Given the description of an element on the screen output the (x, y) to click on. 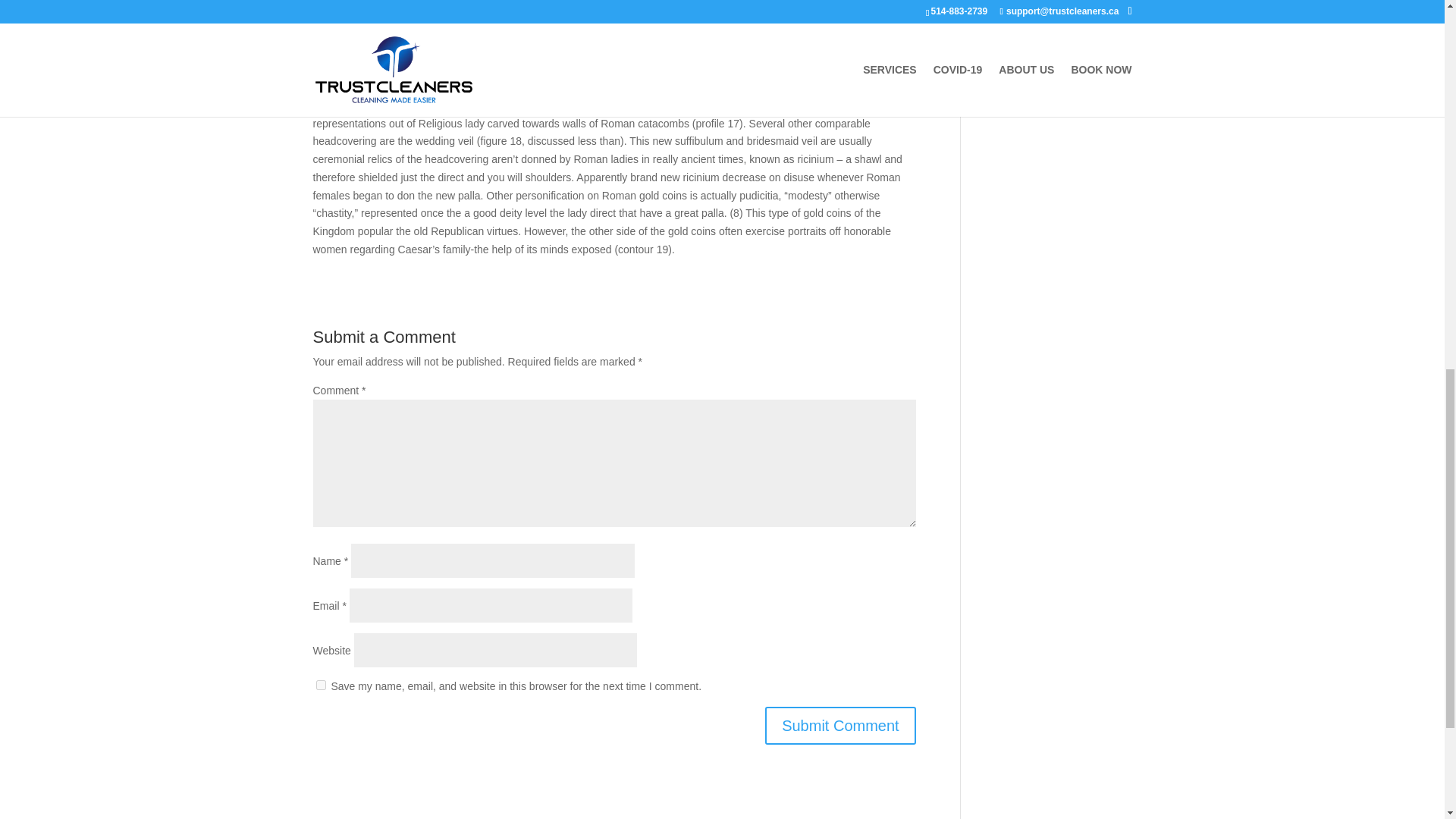
Submit Comment (840, 725)
yes (319, 685)
Submit Comment (840, 725)
